Given the description of an element on the screen output the (x, y) to click on. 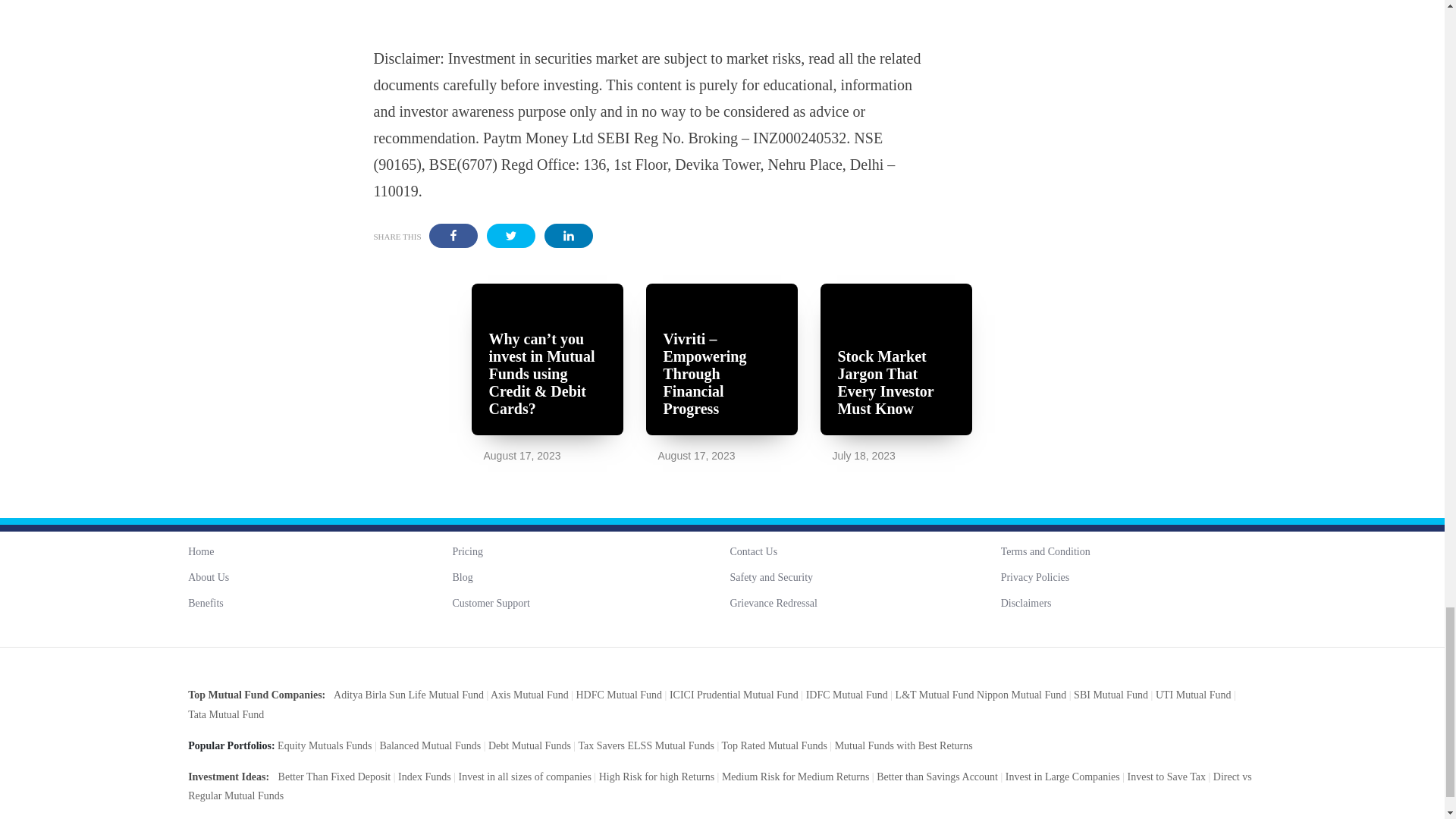
Share on Twitter (510, 235)
Share on Facebook (453, 235)
Share on LinkedIn (568, 235)
